Given the description of an element on the screen output the (x, y) to click on. 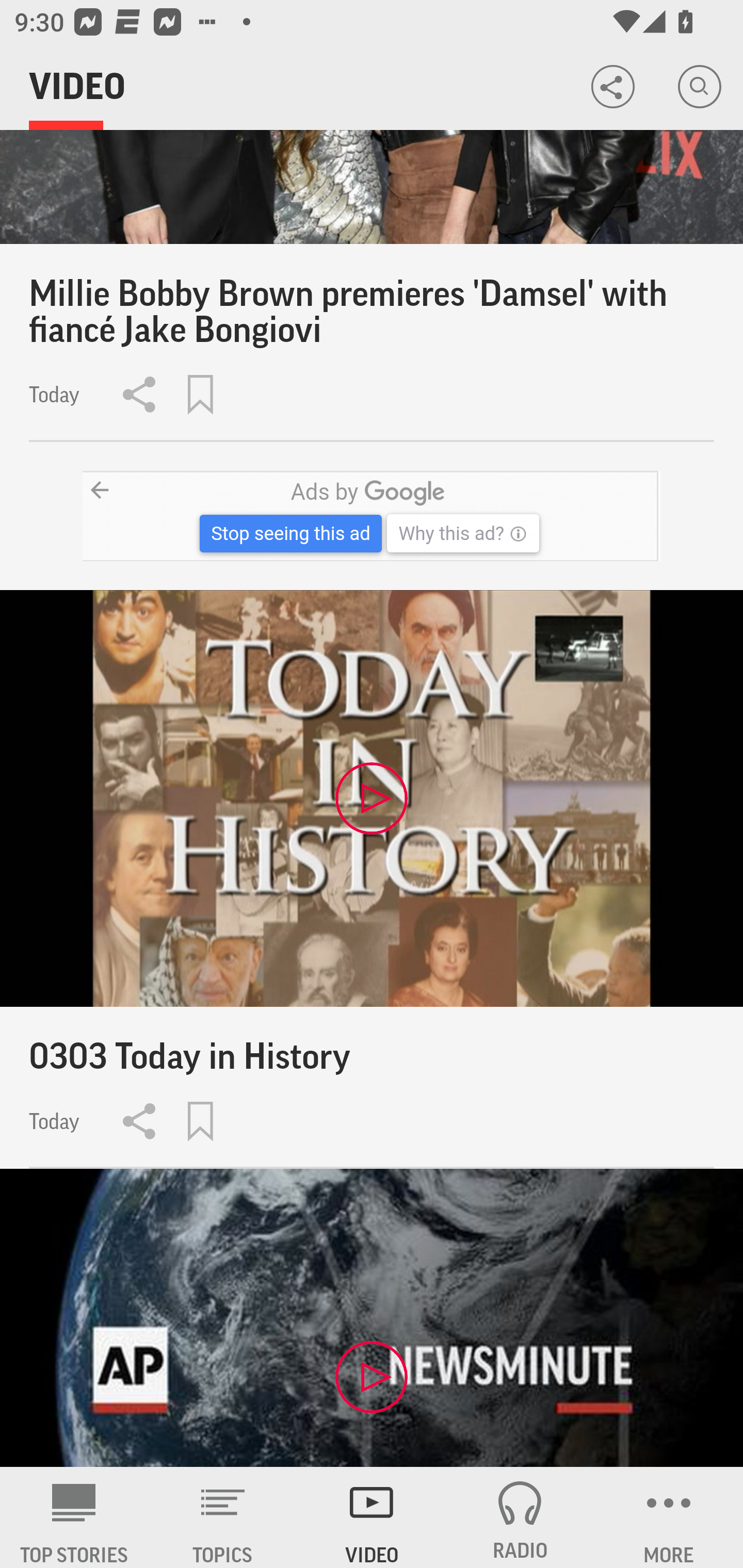
0303 Today in History Today (371, 878)
AP News TOP STORIES (74, 1517)
TOPICS (222, 1517)
VIDEO (371, 1517)
RADIO (519, 1517)
MORE (668, 1517)
